Given the description of an element on the screen output the (x, y) to click on. 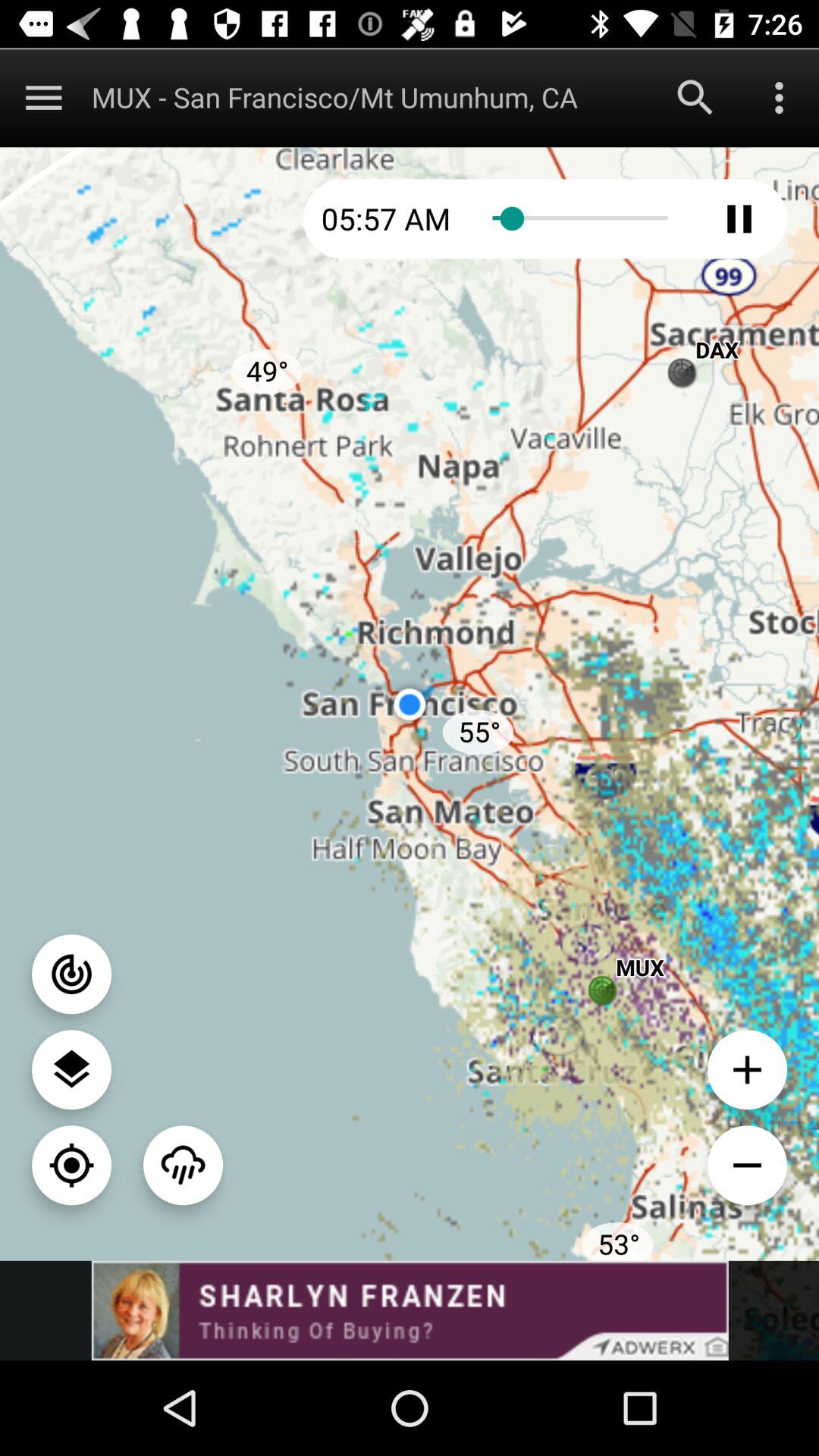
pause audio (739, 218)
